Given the description of an element on the screen output the (x, y) to click on. 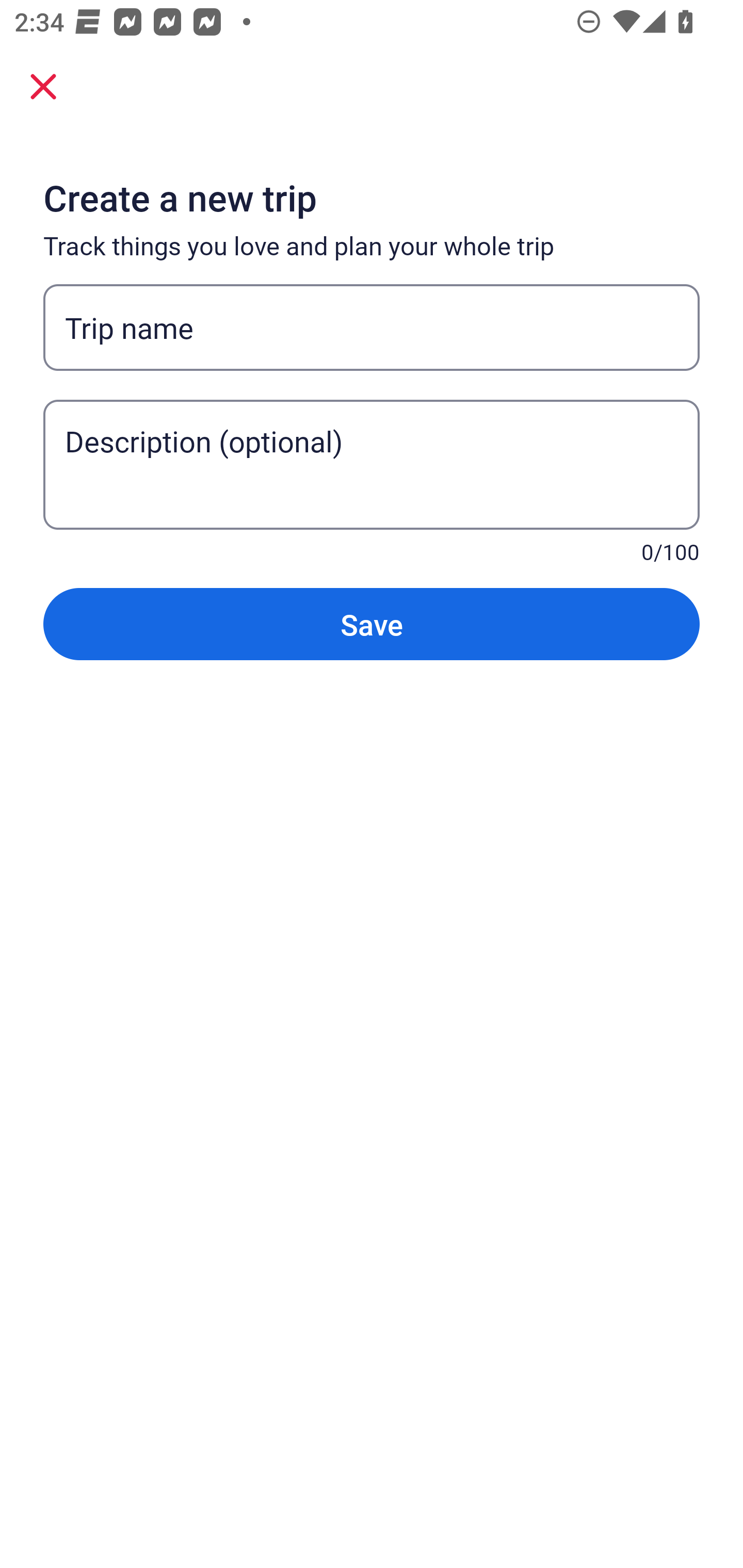
Close (43, 86)
Trip name (371, 327)
Save Button Save (371, 624)
